Given the description of an element on the screen output the (x, y) to click on. 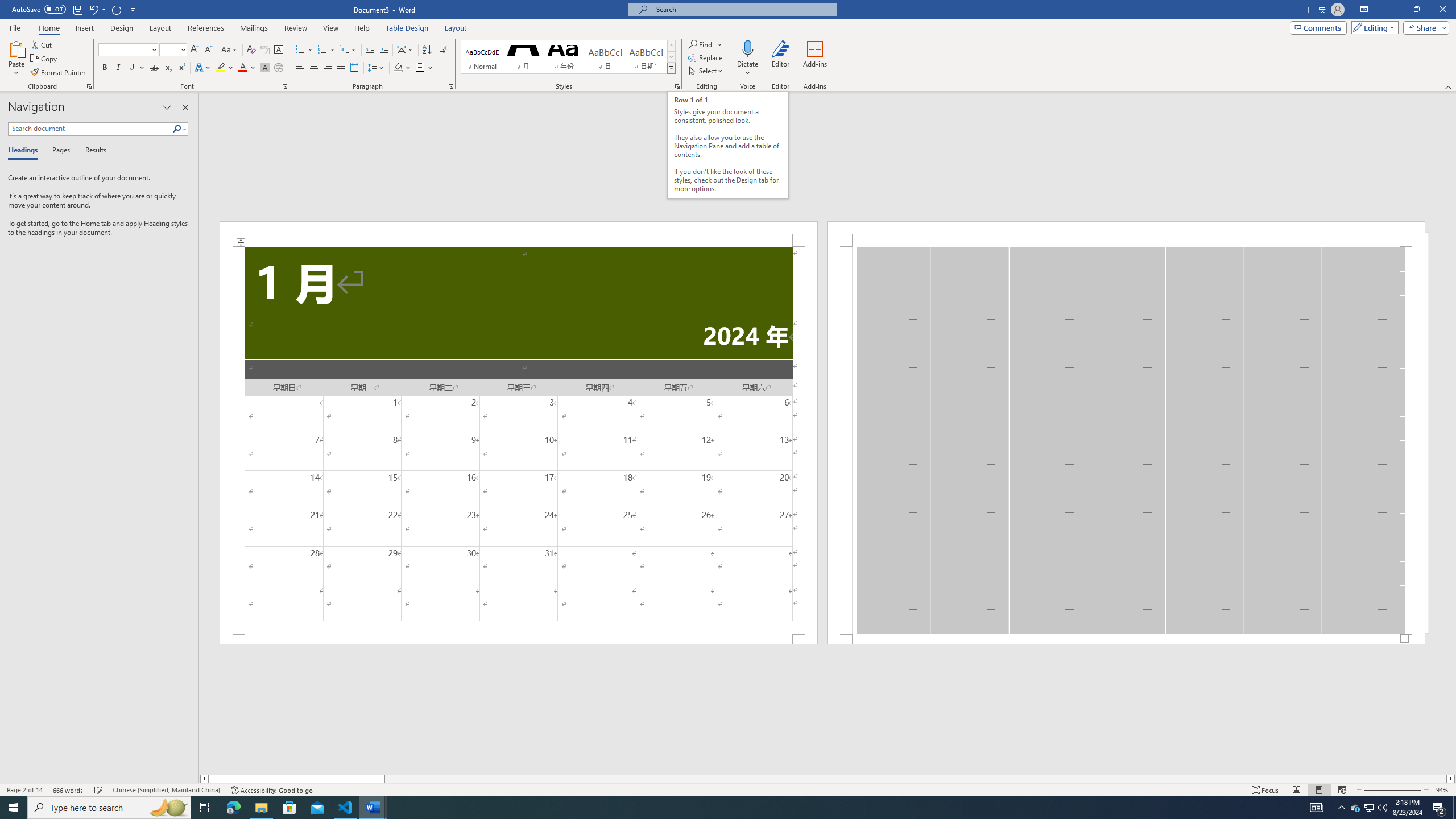
Page right (914, 778)
Page 1 content (518, 439)
Font Color RGB(255, 0, 0) (241, 67)
